Given the description of an element on the screen output the (x, y) to click on. 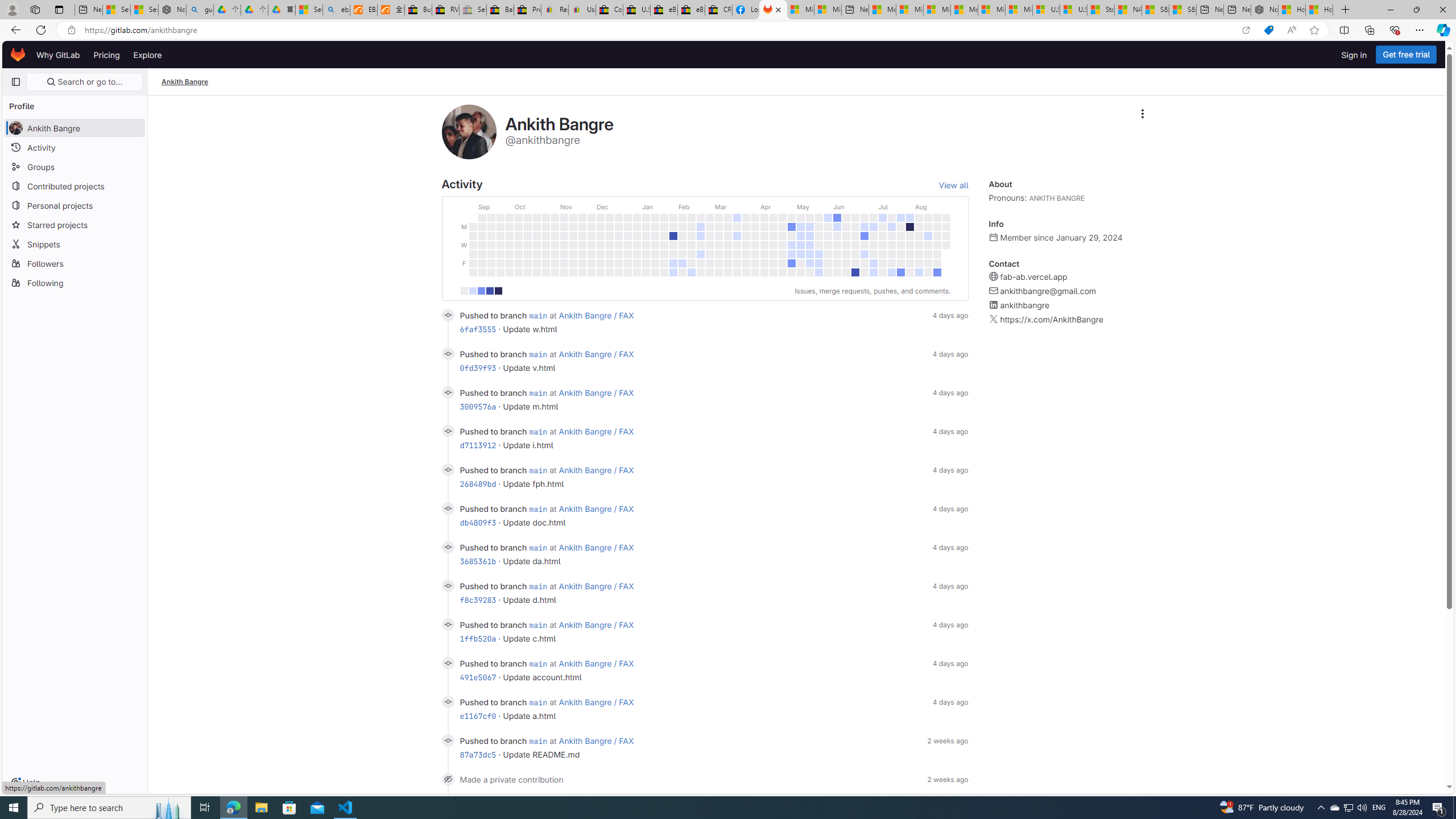
https://x.com/AnkithBangre (1051, 319)
Pricing (106, 54)
Ankith Bangre (184, 81)
